Given the description of an element on the screen output the (x, y) to click on. 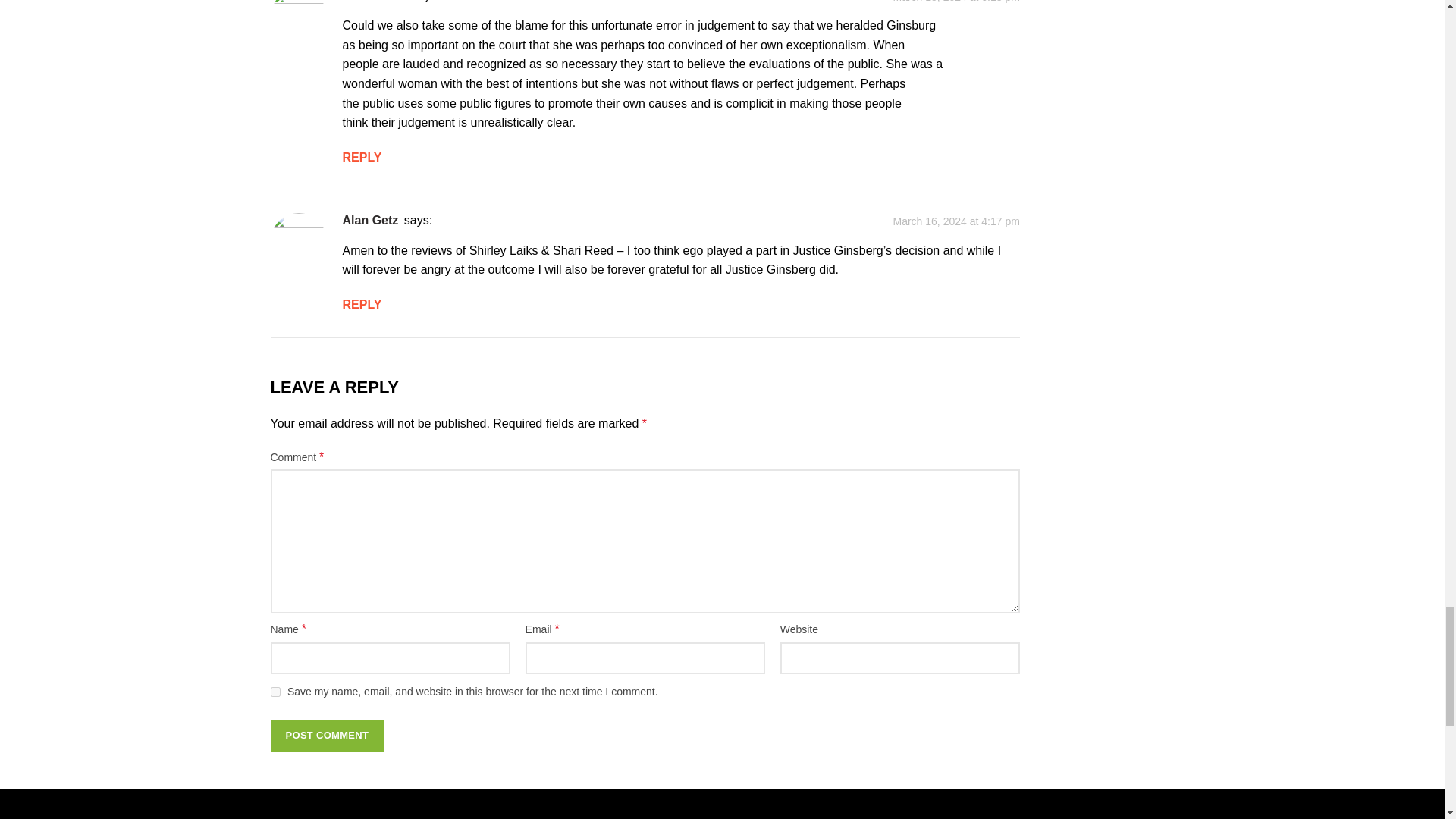
Post Comment (326, 735)
yes (274, 691)
